Given the description of an element on the screen output the (x, y) to click on. 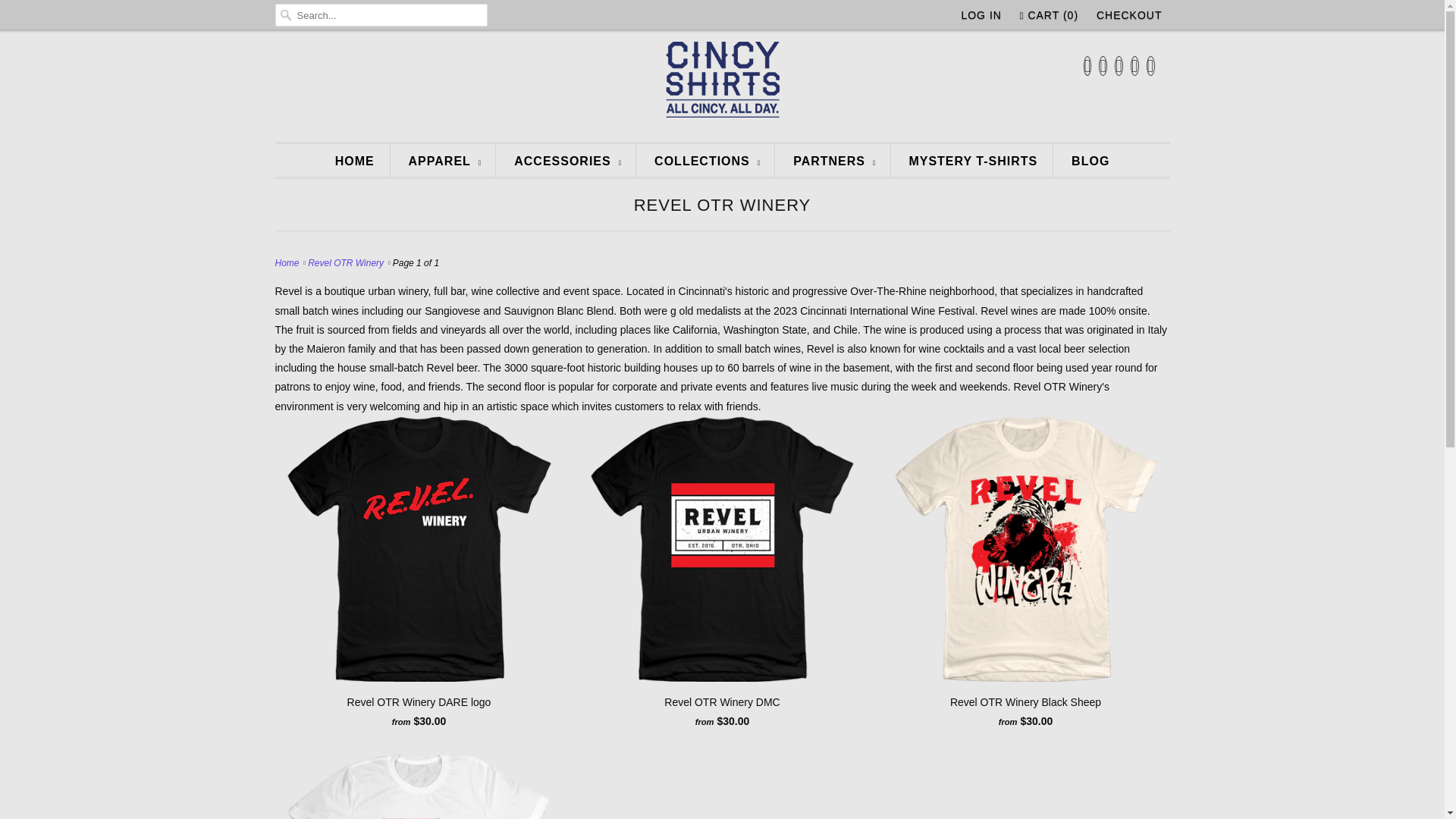
Cincy Shirts on Facebook (1102, 66)
Cincy Shirts on Instagram (1134, 66)
CHECKOUT (1128, 15)
Email Cincy Shirts (1150, 66)
LOG IN (980, 15)
Revel OTR Winery (346, 262)
Cincy Shirts (721, 83)
Cincy Shirts (288, 262)
Cincy Shirts on Pinterest (1118, 66)
Revel OTR Winery (721, 204)
Cincy Shirts on Twitter (1087, 66)
